Given the description of an element on the screen output the (x, y) to click on. 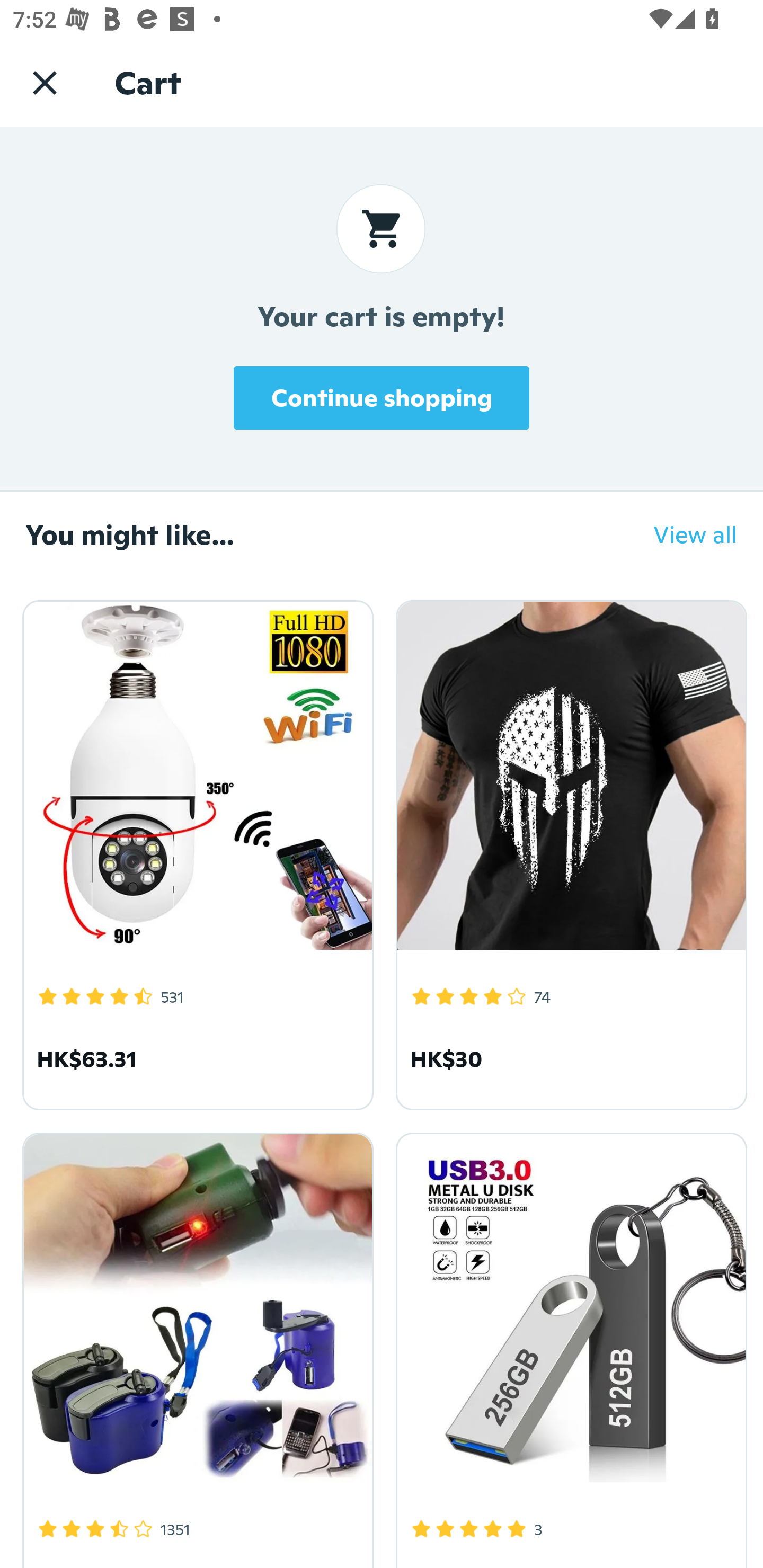
Navigate up (44, 82)
Continue shopping (381, 397)
View all (682, 534)
4.3 Star Rating 531 HK$63.31 (194, 852)
4.1 Star Rating 74 HK$30 (567, 852)
3.5 Star Rating 1351 (194, 1346)
5 Star Rating 3 (567, 1346)
